Given the description of an element on the screen output the (x, y) to click on. 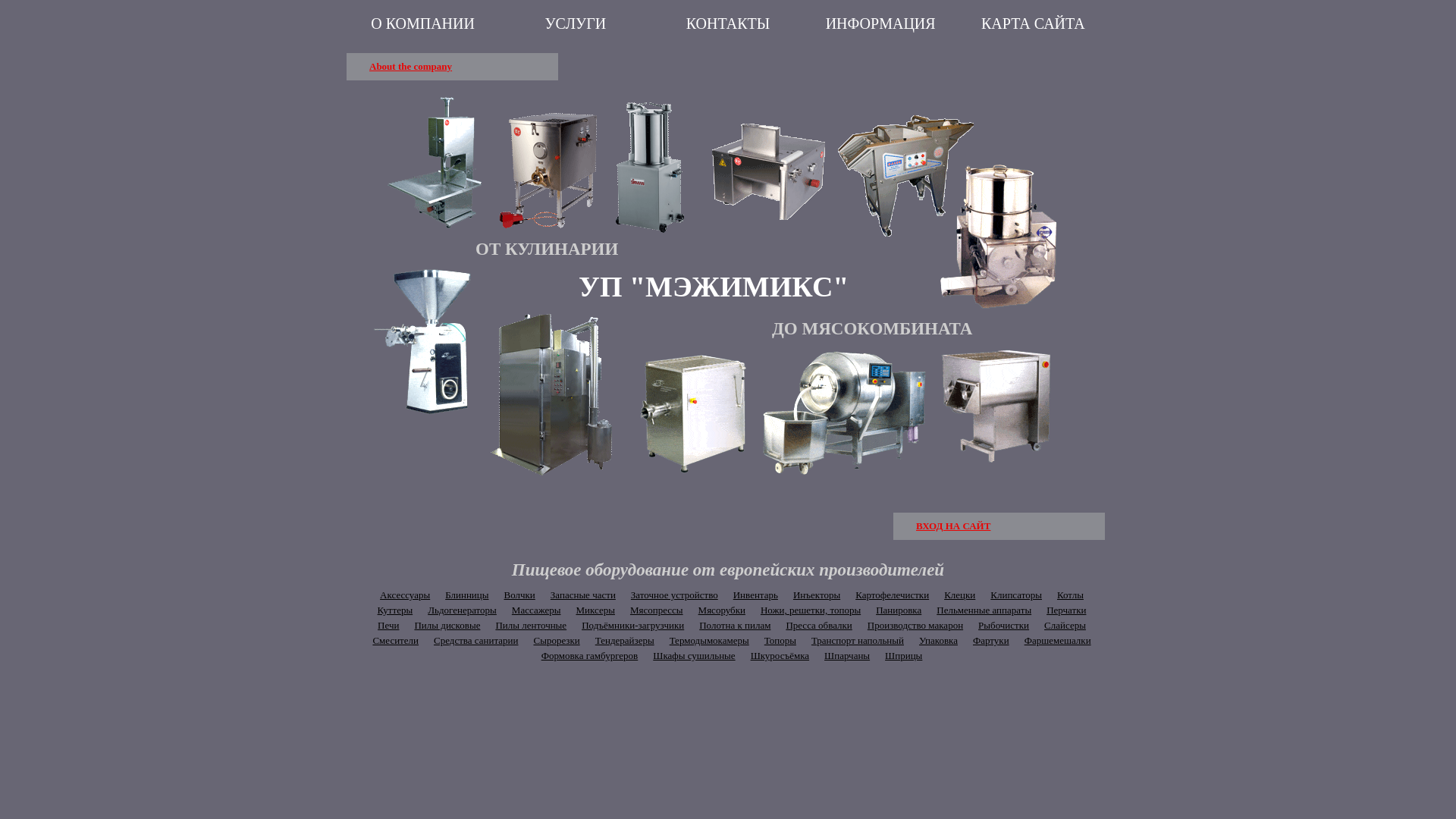
About the company Element type: text (452, 66)
